Given the description of an element on the screen output the (x, y) to click on. 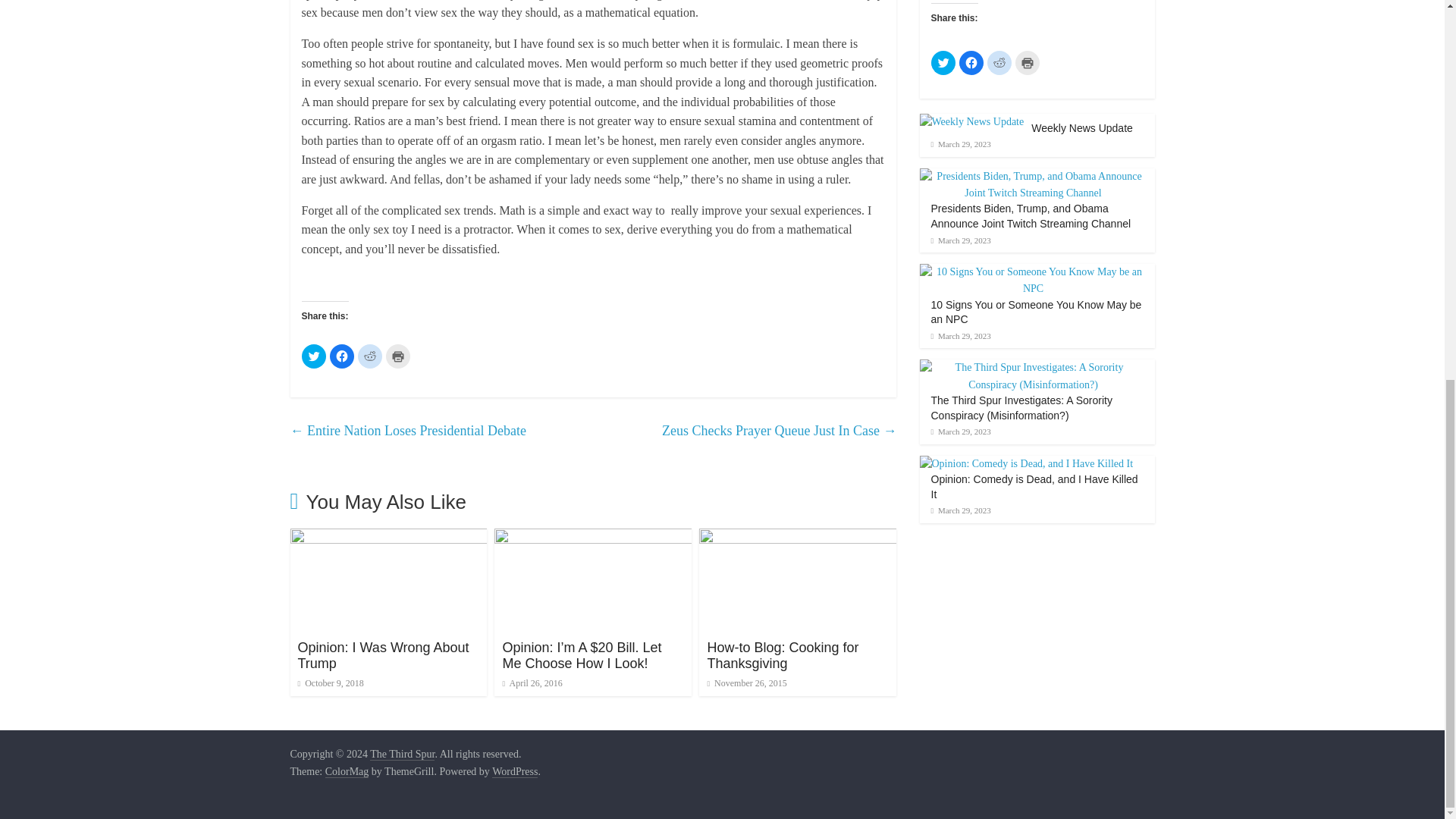
Opinion: I Was Wrong About Trump (387, 537)
Opinion: I Was Wrong About Trump (382, 655)
Click to print (397, 355)
Click to share on Facebook (341, 355)
How-to Blog: Cooking for Thanksgiving (782, 655)
November 26, 2015 (746, 683)
9:11 am (329, 683)
April 26, 2016 (532, 683)
Click to share on Reddit (369, 355)
Click to share on Twitter (313, 355)
